Given the description of an element on the screen output the (x, y) to click on. 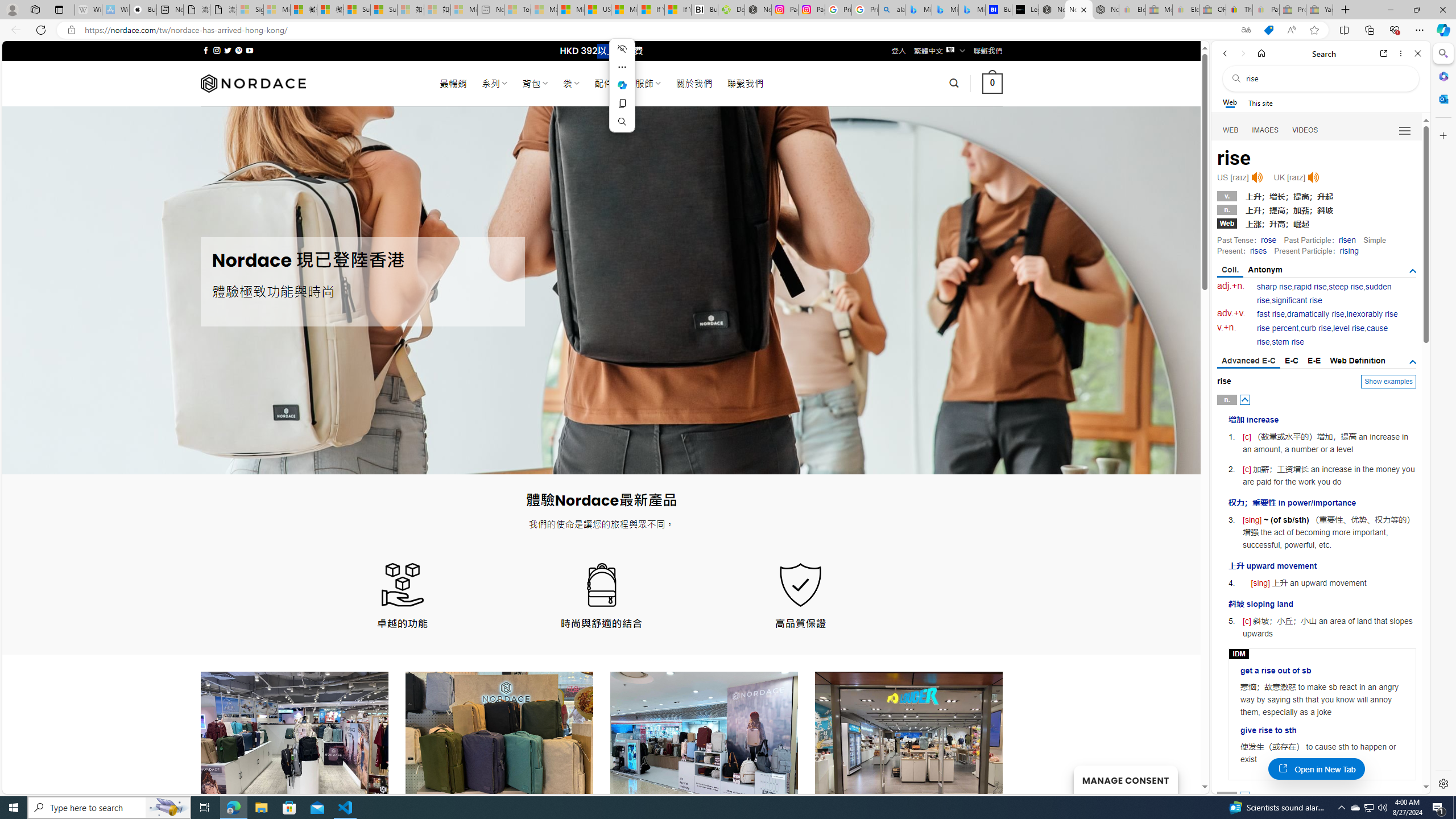
Copy (622, 103)
Antonym (1265, 269)
curb rise (1315, 328)
